Given the description of an element on the screen output the (x, y) to click on. 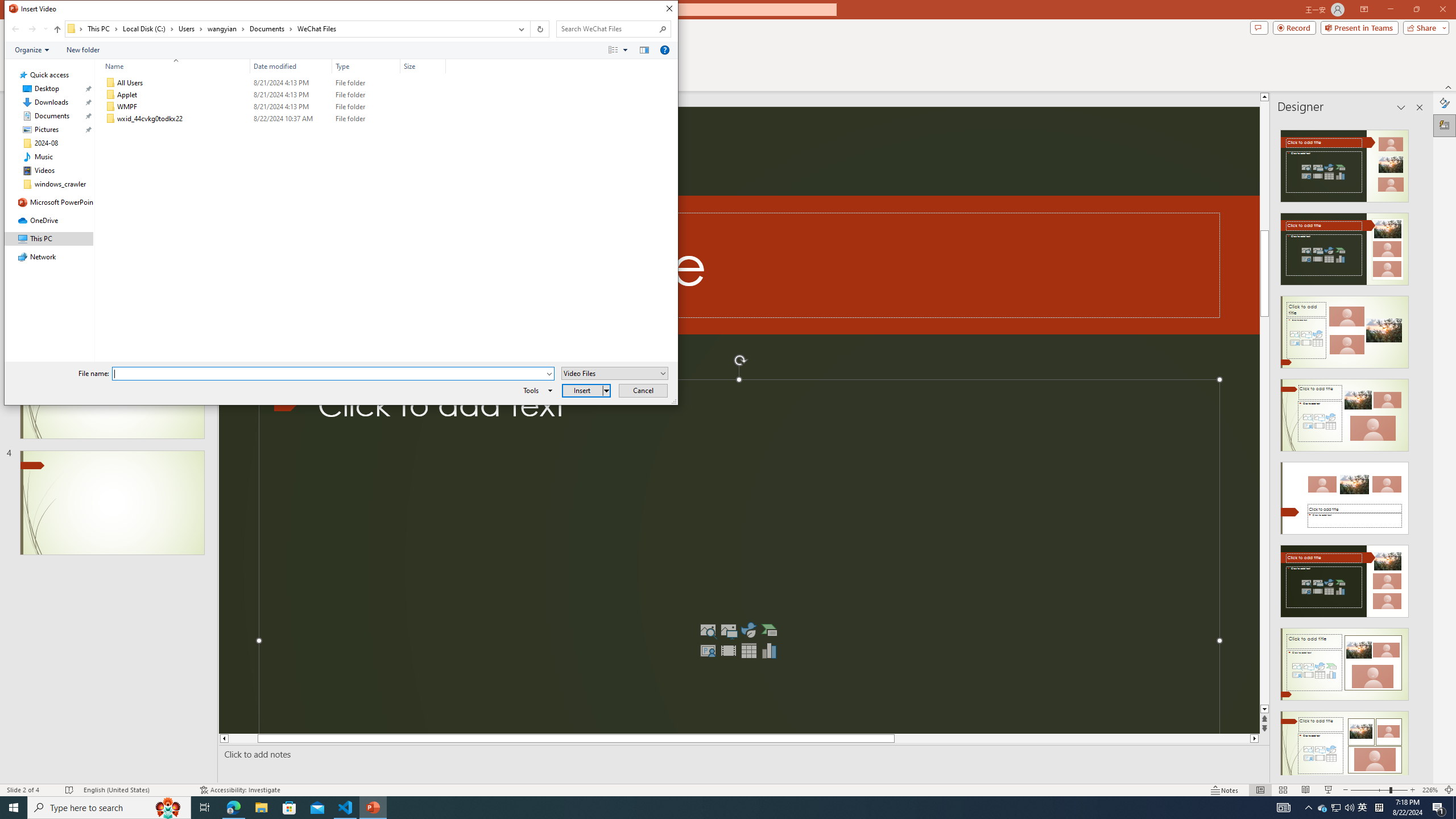
Date modified (290, 65)
Applet (273, 94)
Refresh "WeChat Files" (F5) (538, 28)
Files of type: (615, 373)
Tools (535, 390)
Forward (Alt + Right Arrow) (31, 28)
Views (620, 49)
View Slider (625, 49)
